Given the description of an element on the screen output the (x, y) to click on. 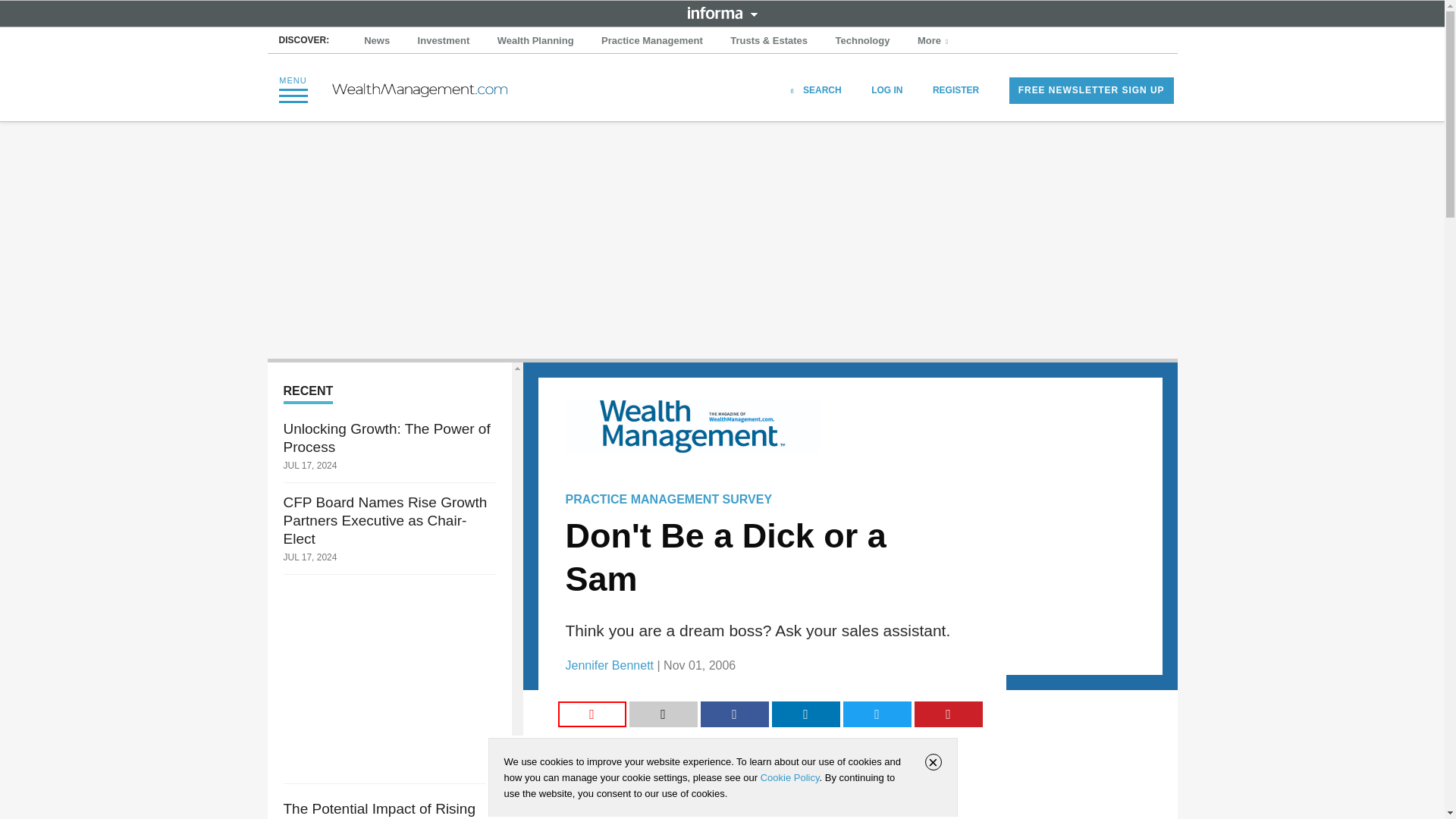
Investment (444, 41)
More (934, 41)
Practice Management (652, 41)
News (377, 41)
INFORMA (722, 12)
Cookie Policy (789, 777)
Wealth Planning (535, 41)
Technology (862, 41)
MENU (293, 89)
